Given the description of an element on the screen output the (x, y) to click on. 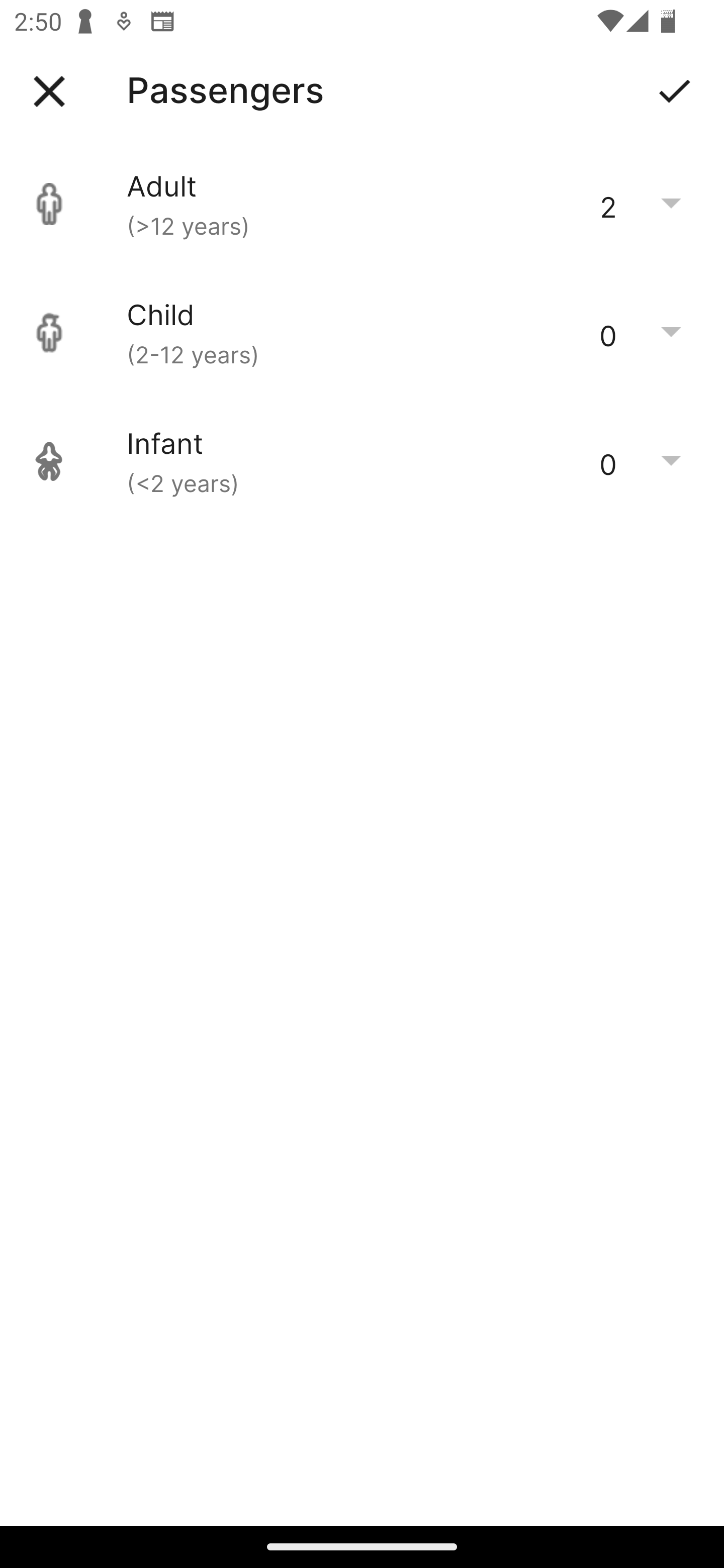
Adult (>12 years) 2 (362, 204)
Child (2-12 years) 0 (362, 332)
Infant (<2 years) 0 (362, 461)
